Given the description of an element on the screen output the (x, y) to click on. 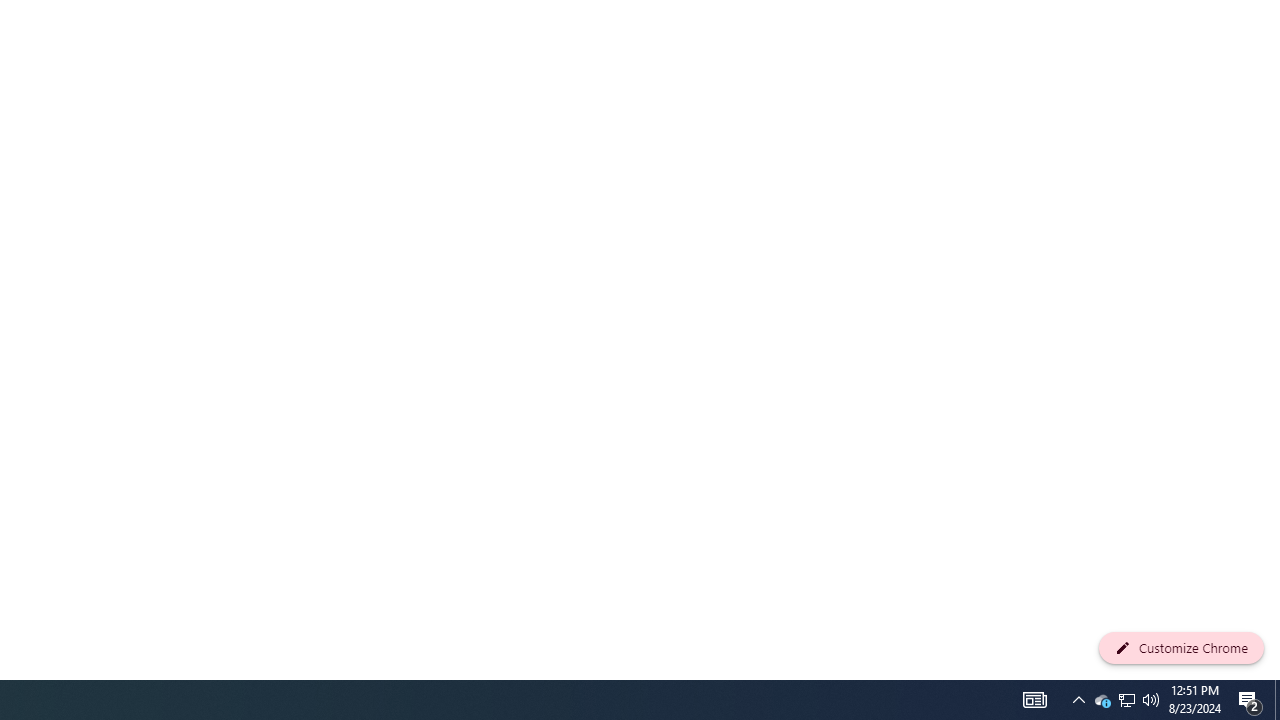
Customize Chrome (1181, 647)
